Given the description of an element on the screen output the (x, y) to click on. 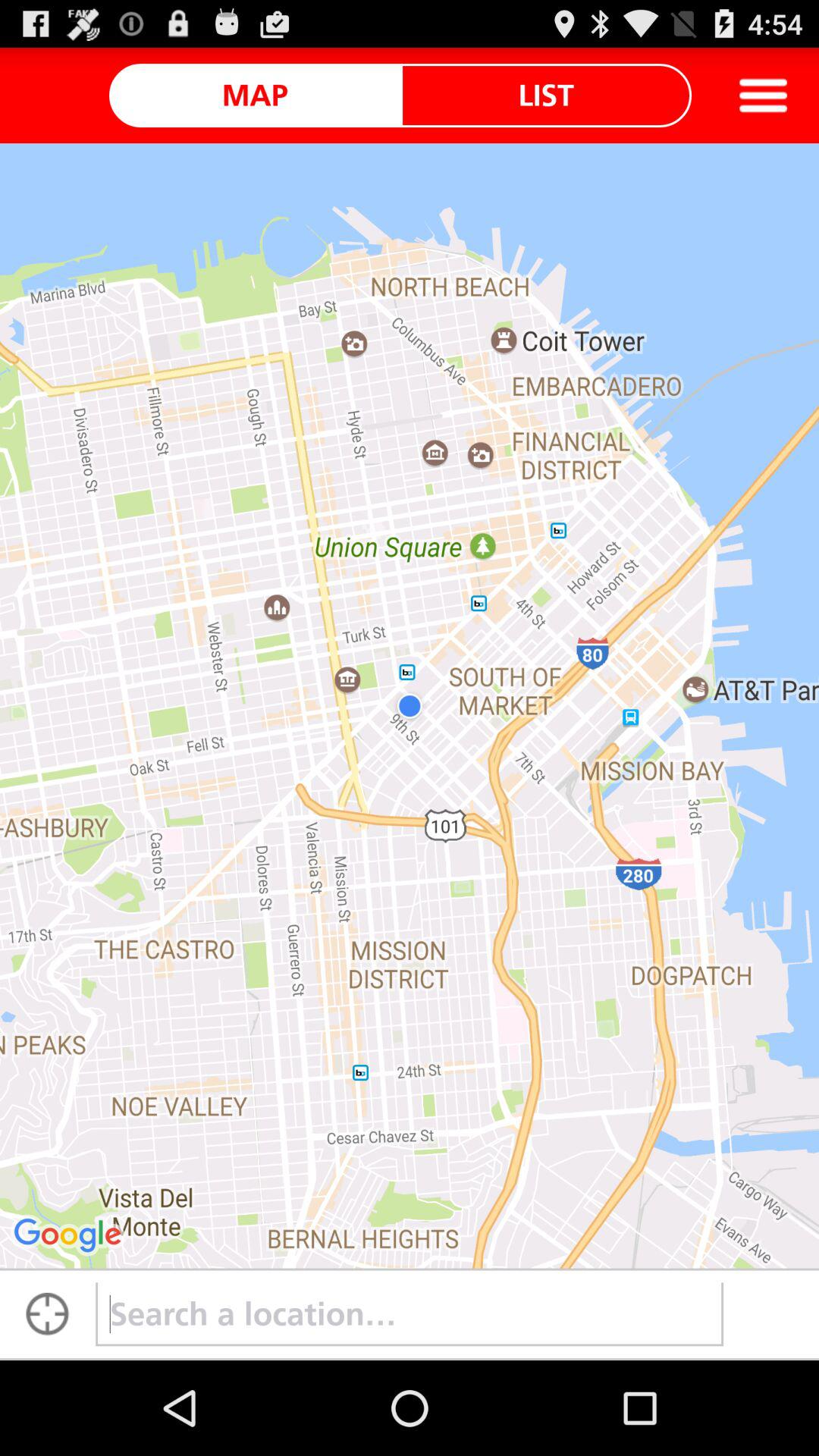
click on directional icon (47, 1314)
